Given the description of an element on the screen output the (x, y) to click on. 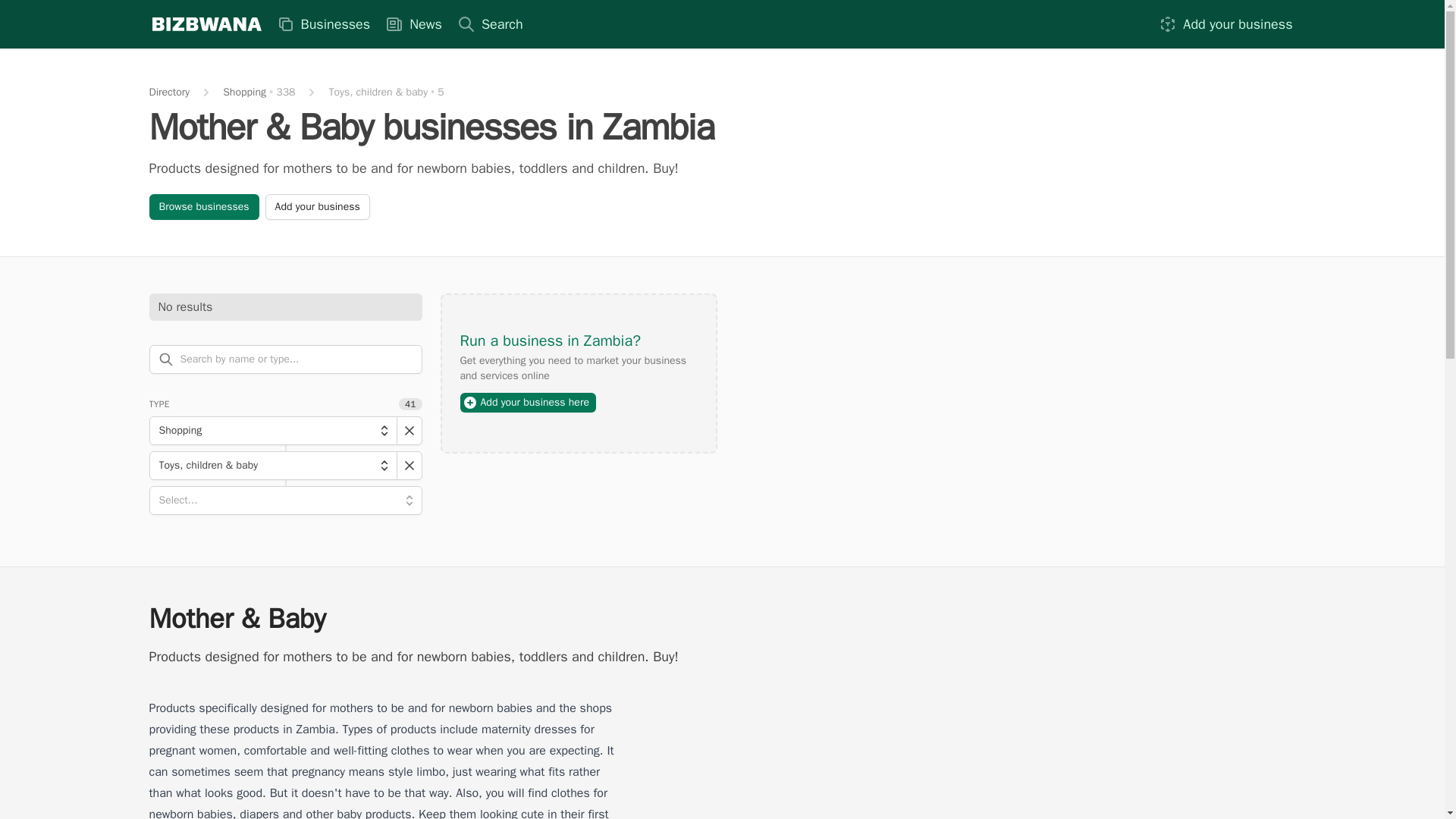
Clear Shopping (409, 430)
Add your business here (527, 402)
Browse businesses (203, 206)
Select... (285, 500)
Shopping (272, 430)
Businesses (322, 24)
News (413, 24)
Browse businesses (203, 207)
TYPE (158, 404)
Search (490, 24)
Directory (168, 92)
Add your business (316, 207)
Add your business (1225, 24)
